Given the description of an element on the screen output the (x, y) to click on. 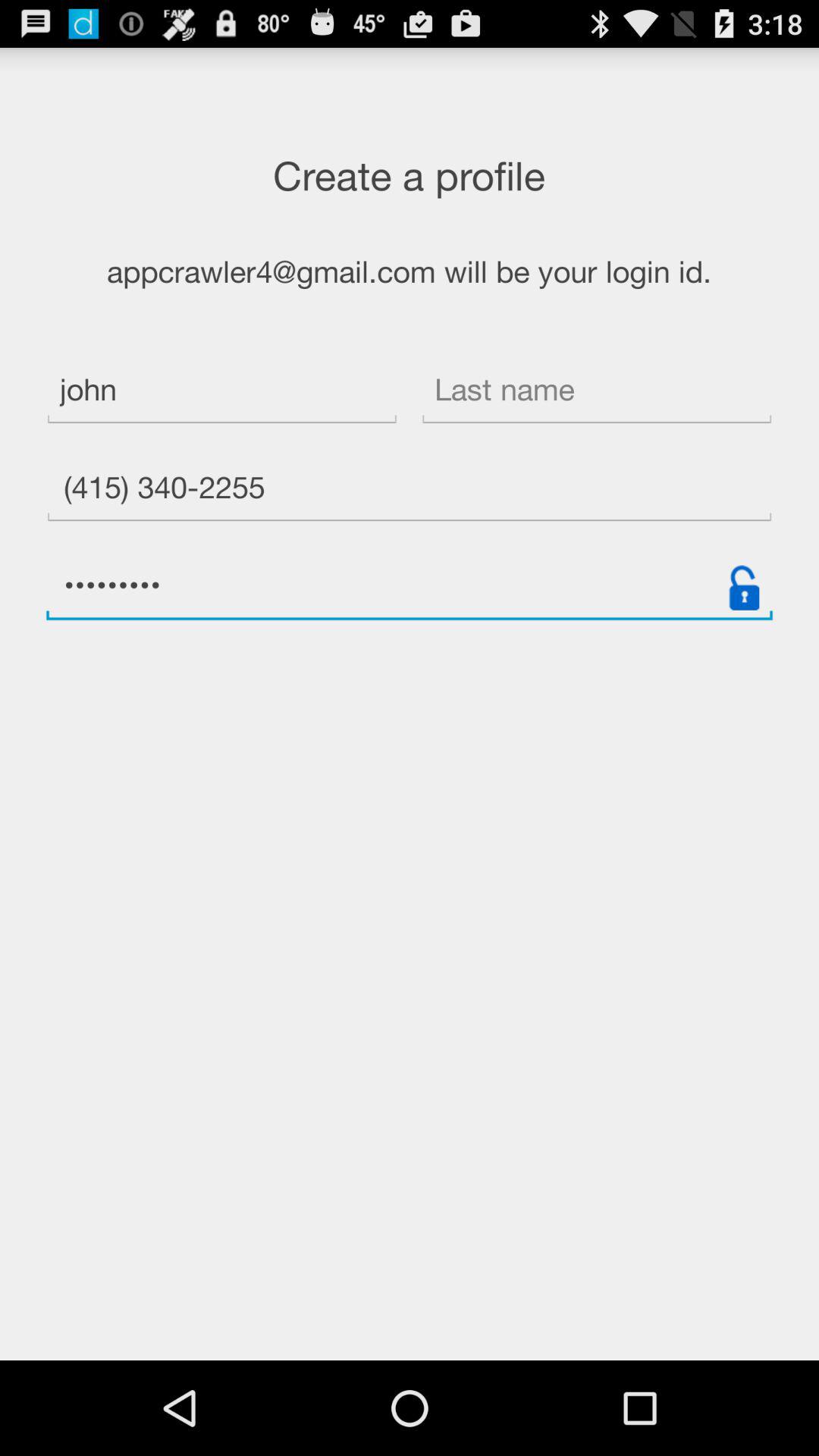
turn off crowd3116 item (409, 587)
